Given the description of an element on the screen output the (x, y) to click on. 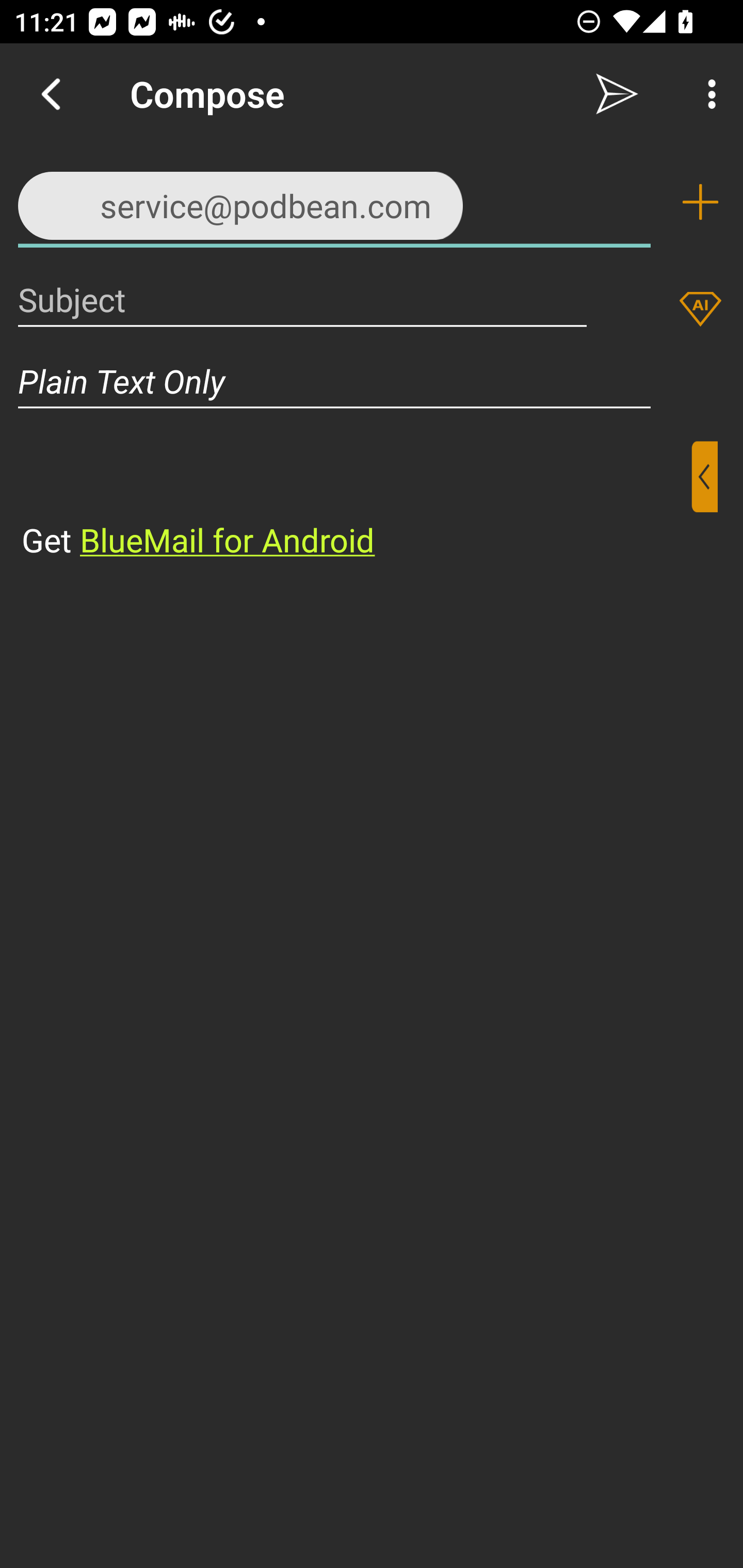
Navigate up (50, 93)
Send (616, 93)
More Options (706, 93)
<service@podbean.com>,  (334, 201)
Add recipient (To) (699, 201)
Subject (302, 299)
Plain Text Only (371, 380)


⁣Get BlueMail for Android ​ (355, 501)
